Given the description of an element on the screen output the (x, y) to click on. 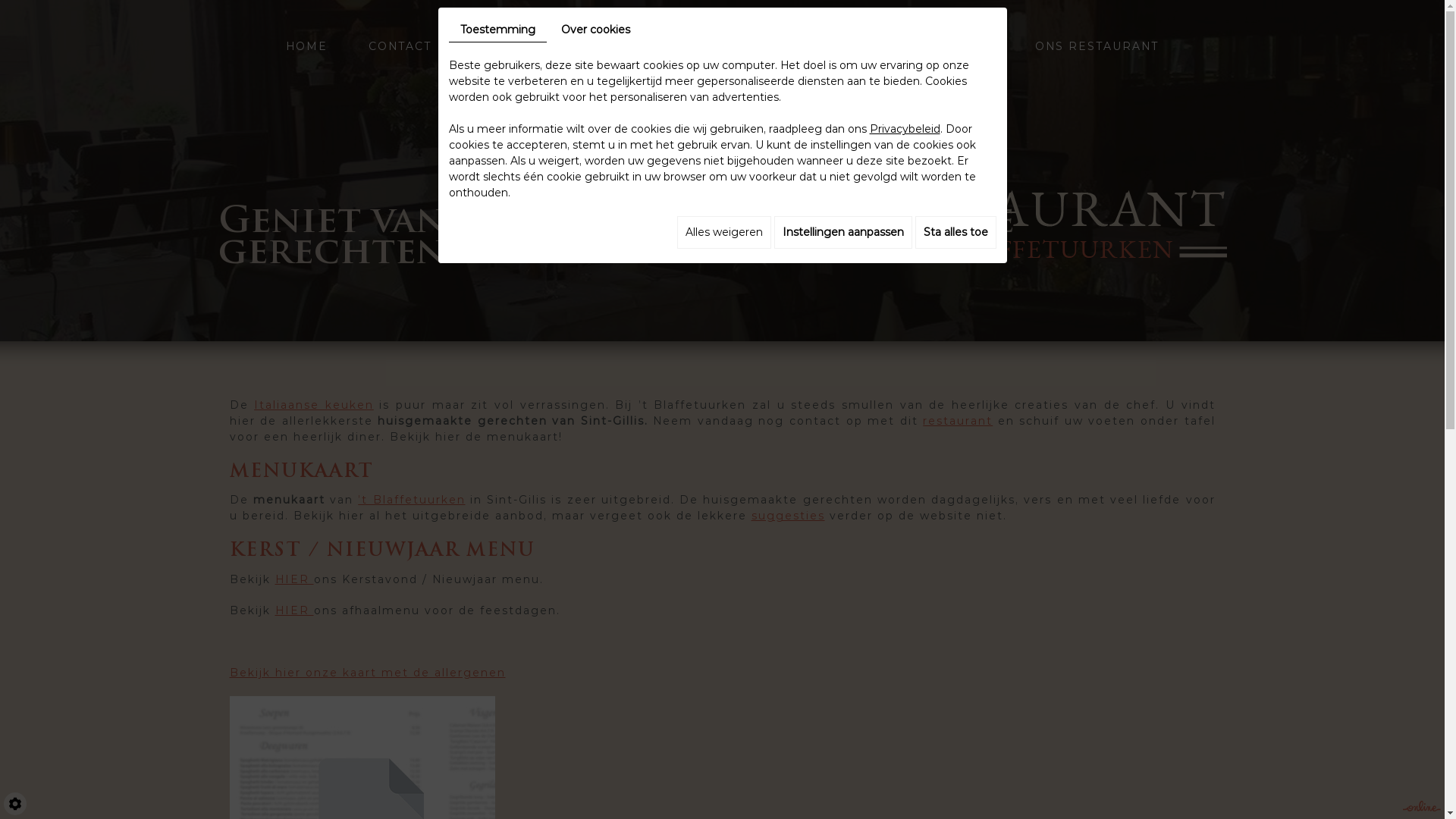
ONS RESTAURANT Element type: text (1096, 46)
ITALIAANSE-FRANSE KEUKEN Element type: text (573, 46)
HIER  Element type: text (293, 579)
Over cookies Element type: text (594, 29)
Privacybeleid Element type: text (904, 128)
restaurant Element type: text (957, 420)
Bekijk hier onze kaart met de allergenen Element type: text (367, 672)
Cookie-instelling bewerken Element type: text (14, 803)
Sta alles toe Element type: text (954, 232)
suggesties Element type: text (787, 515)
HOME Element type: text (306, 46)
ONZE KAART Element type: text (759, 46)
CONTACT Element type: text (399, 46)
Alles weigeren Element type: text (723, 232)
Toestemming Element type: text (497, 30)
Italiaanse keuken Element type: text (313, 404)
NIEUWS Element type: text (966, 46)
EVENTS Element type: text (870, 46)
HIER  Element type: text (293, 610)
Instellingen aanpassen Element type: text (842, 232)
